Given the description of an element on the screen output the (x, y) to click on. 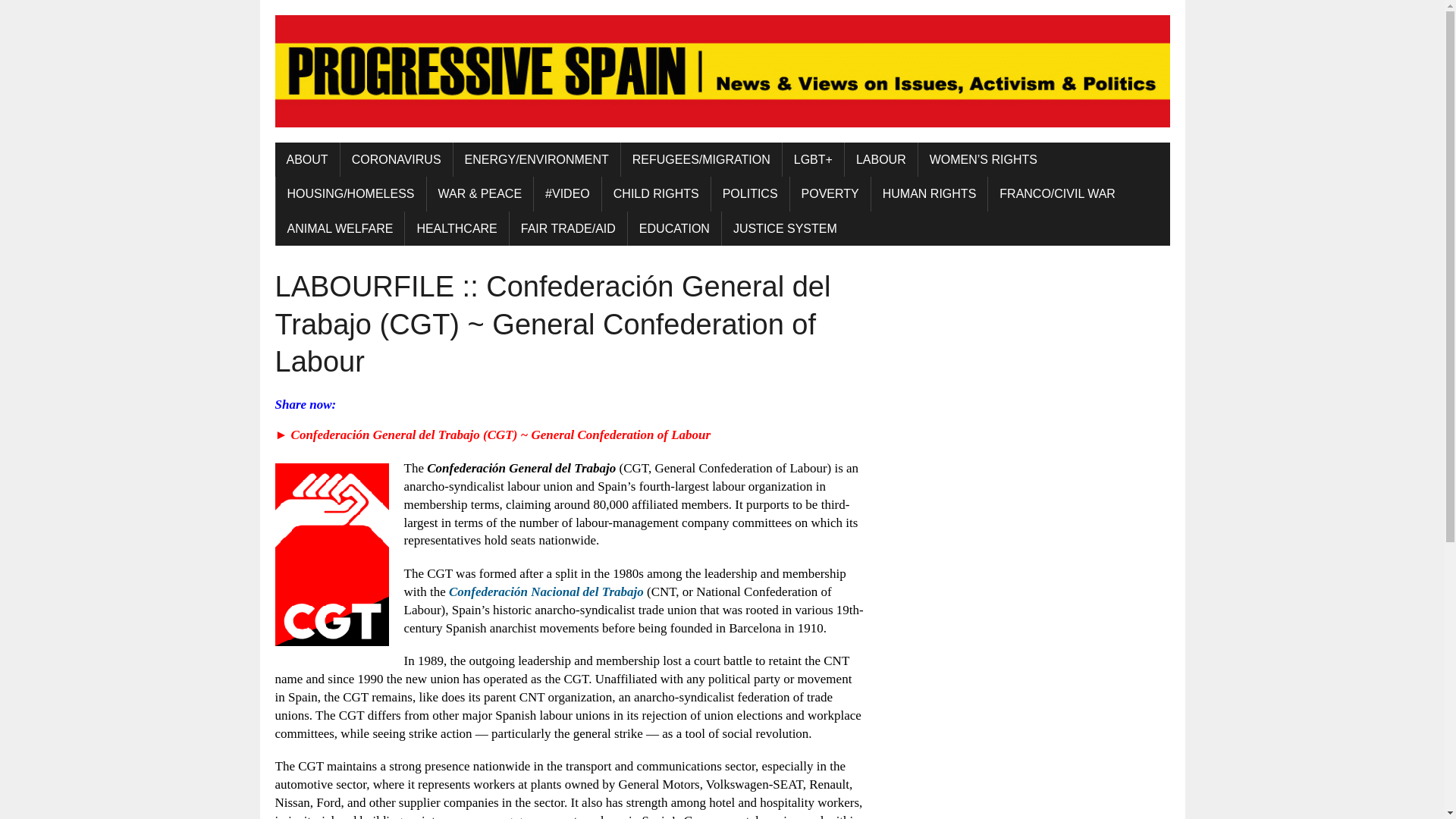
ABOUT (307, 159)
CORONAVIRUS (396, 159)
Progressive Spain (722, 71)
LABOUR (880, 159)
POLITICS (750, 193)
POVERTY (830, 193)
HEALTHCARE (456, 228)
HUMAN RIGHTS (929, 193)
CHILD RIGHTS (656, 193)
JUSTICE SYSTEM (785, 228)
